Given the description of an element on the screen output the (x, y) to click on. 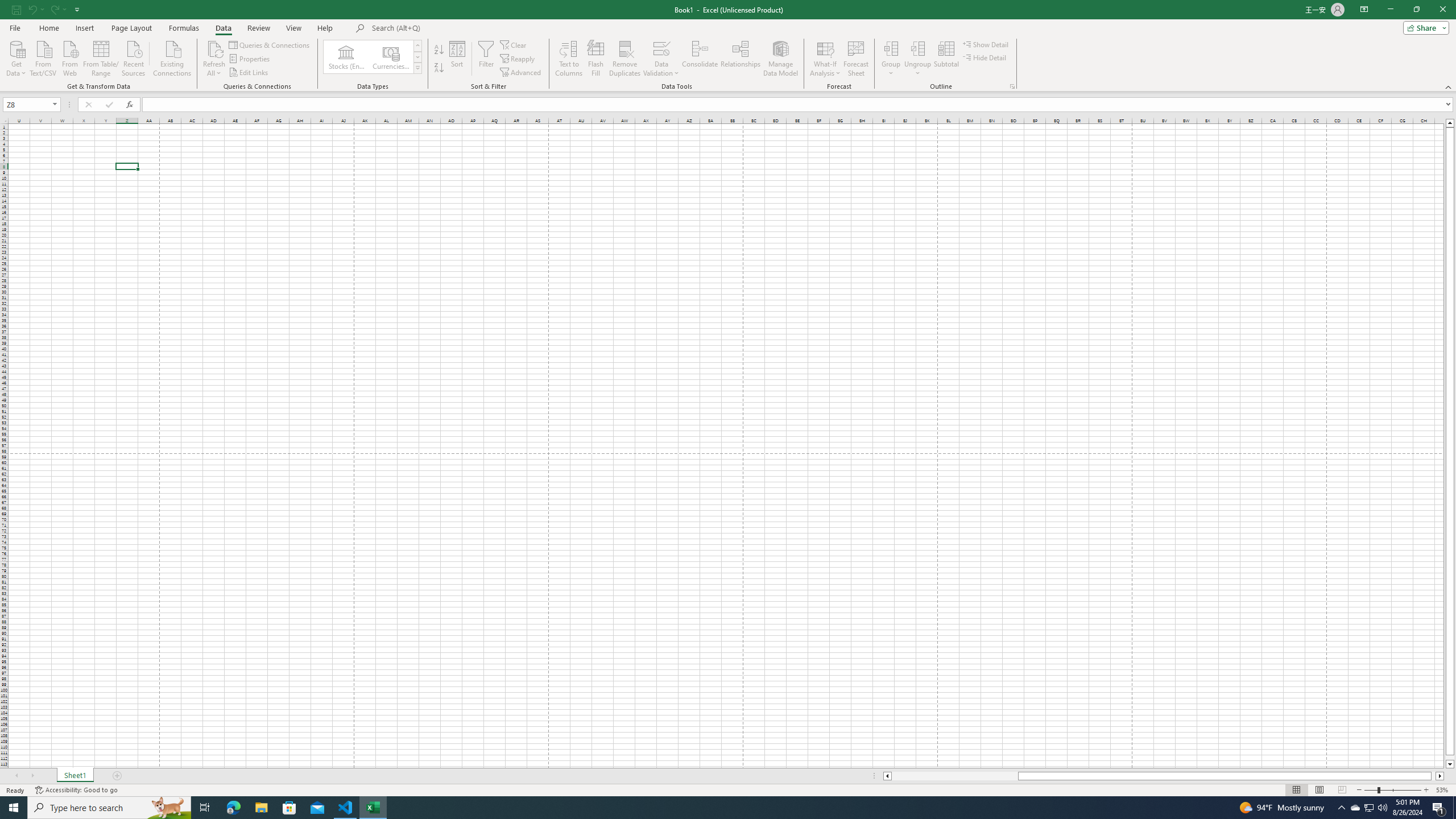
Consolidate... (700, 58)
Advanced... (520, 72)
Show Detail (985, 44)
